Given the description of an element on the screen output the (x, y) to click on. 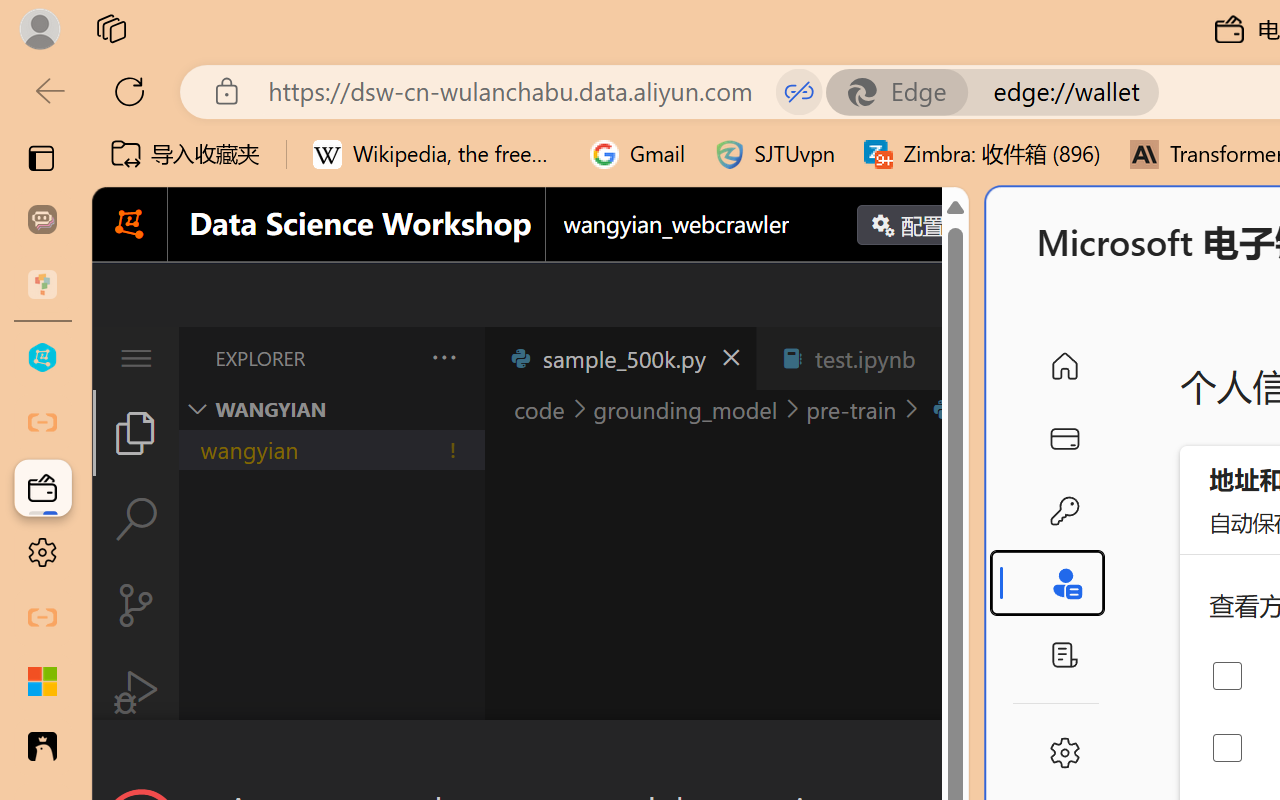
SJTUvpn (774, 154)
Run and Debug (Ctrl+Shift+D) (135, 692)
Views and More Actions... (442, 357)
Gmail (637, 154)
test.ipynb (864, 358)
Close (Ctrl+F4) (946, 358)
Class: menubar compact overflow-menu-only (135, 358)
